Given the description of an element on the screen output the (x, y) to click on. 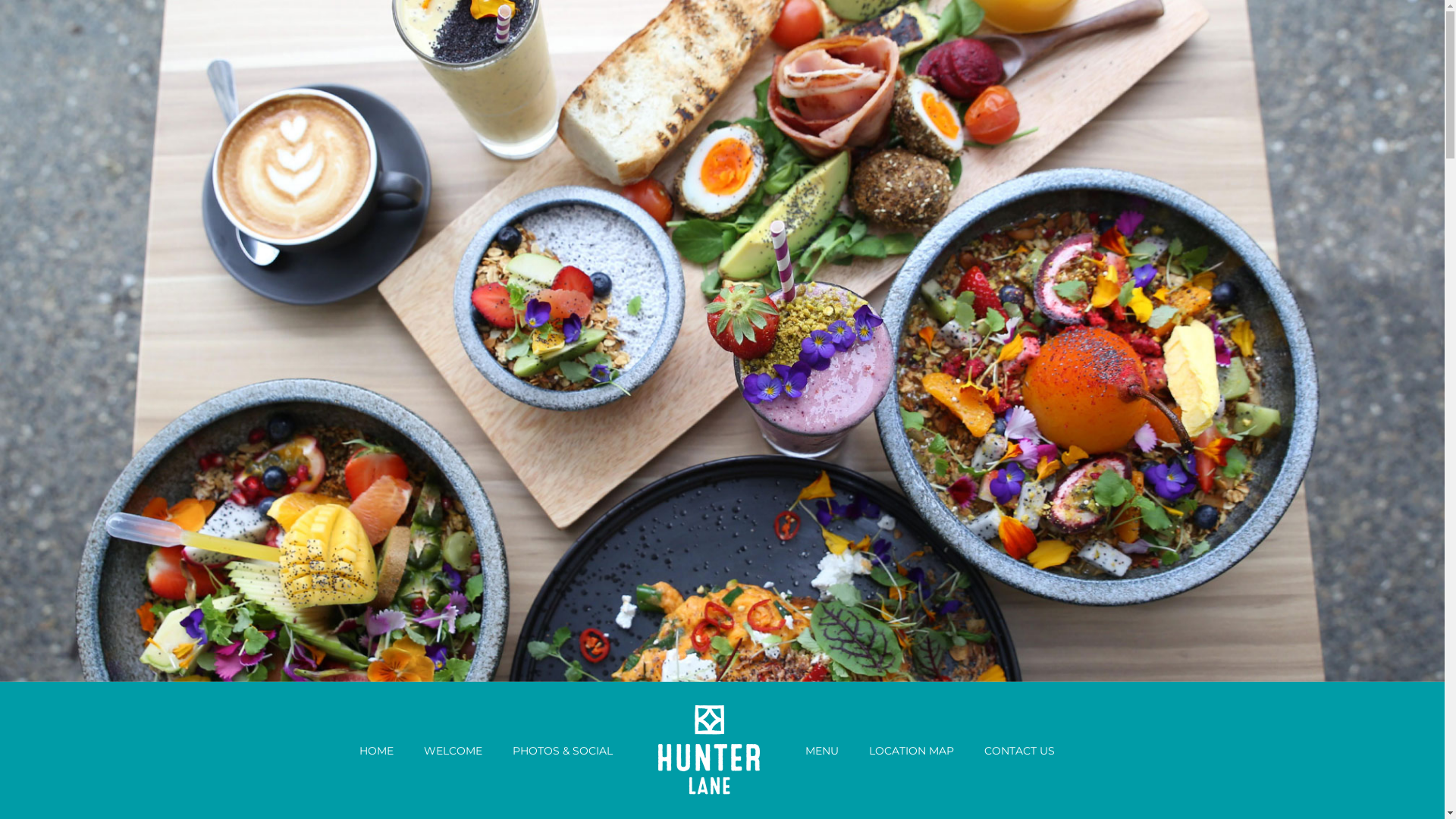
MENU Element type: text (821, 750)
WELCOME Element type: text (452, 750)
LOCATION MAP Element type: text (911, 750)
HOME Element type: text (376, 750)
PHOTOS & SOCIAL Element type: text (562, 750)
CONTACT US Element type: text (1019, 750)
